Given the description of an element on the screen output the (x, y) to click on. 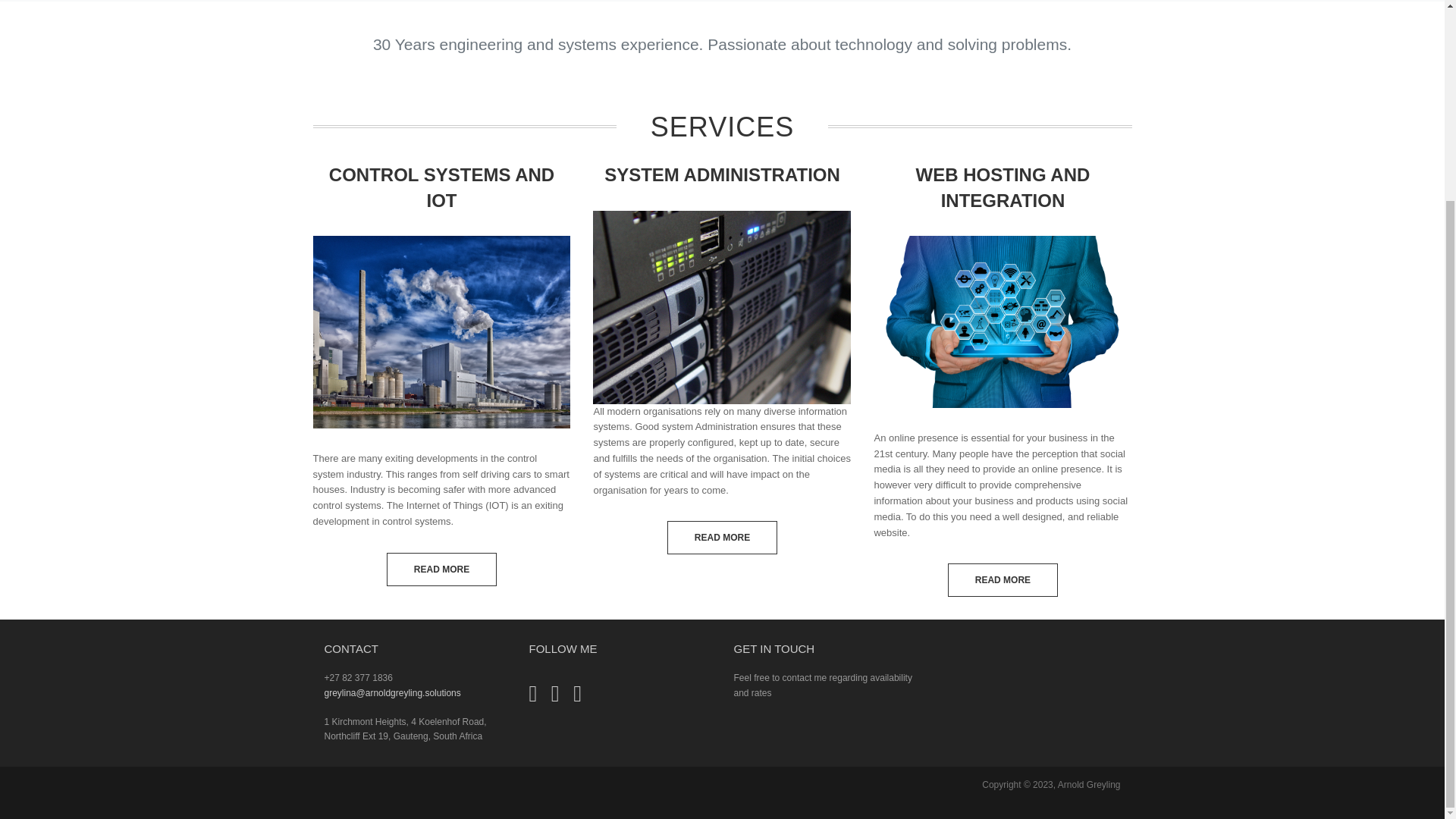
READ MORE (1002, 580)
ABOUT (762, 3)
HOME (679, 3)
READ MORE (721, 537)
READ MORE (441, 569)
